Given the description of an element on the screen output the (x, y) to click on. 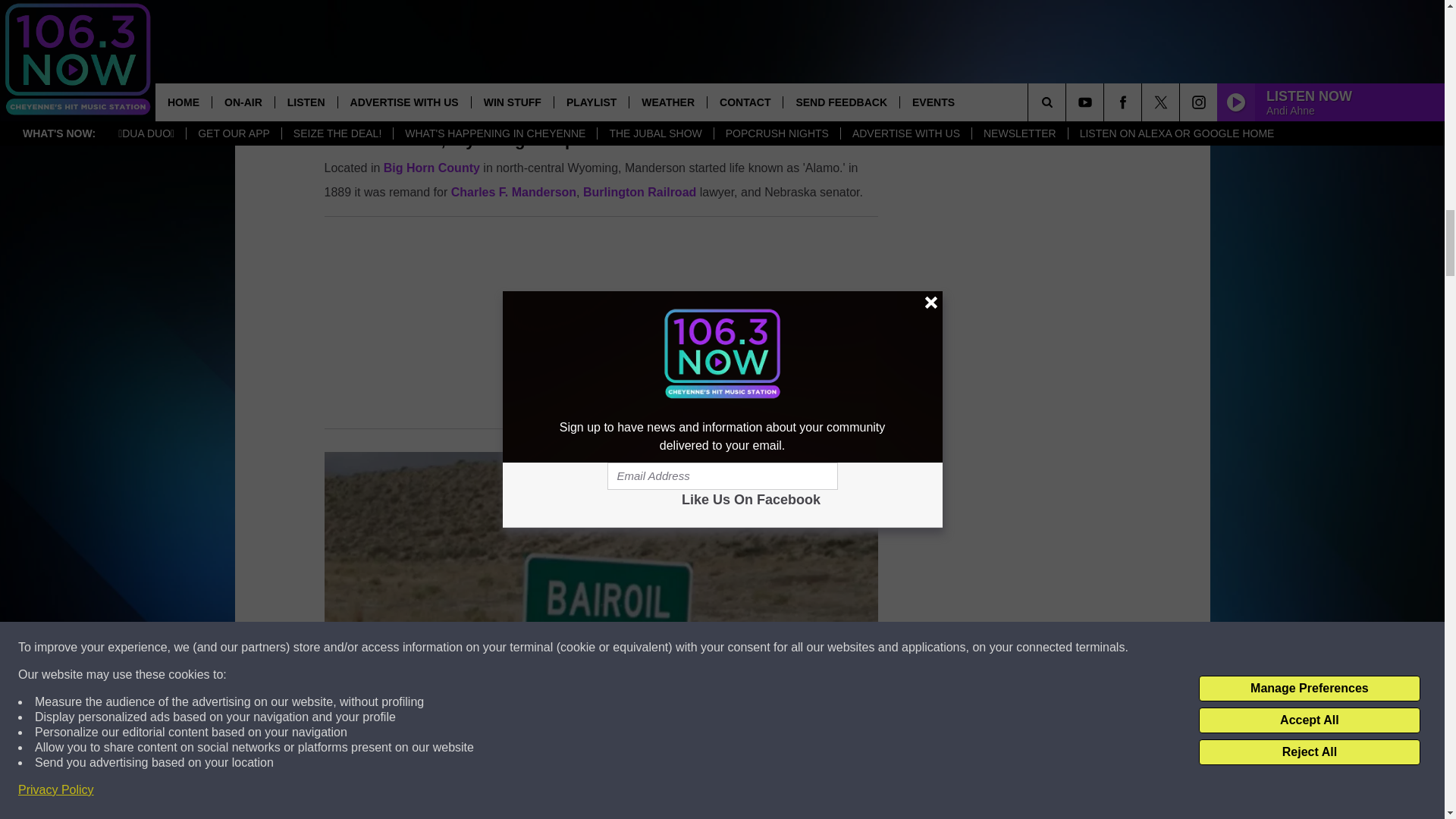
Burlington Railroad (639, 192)
Charles F. Manderson (513, 192)
Big Horn County, Wyoming (432, 167)
